Given the description of an element on the screen output the (x, y) to click on. 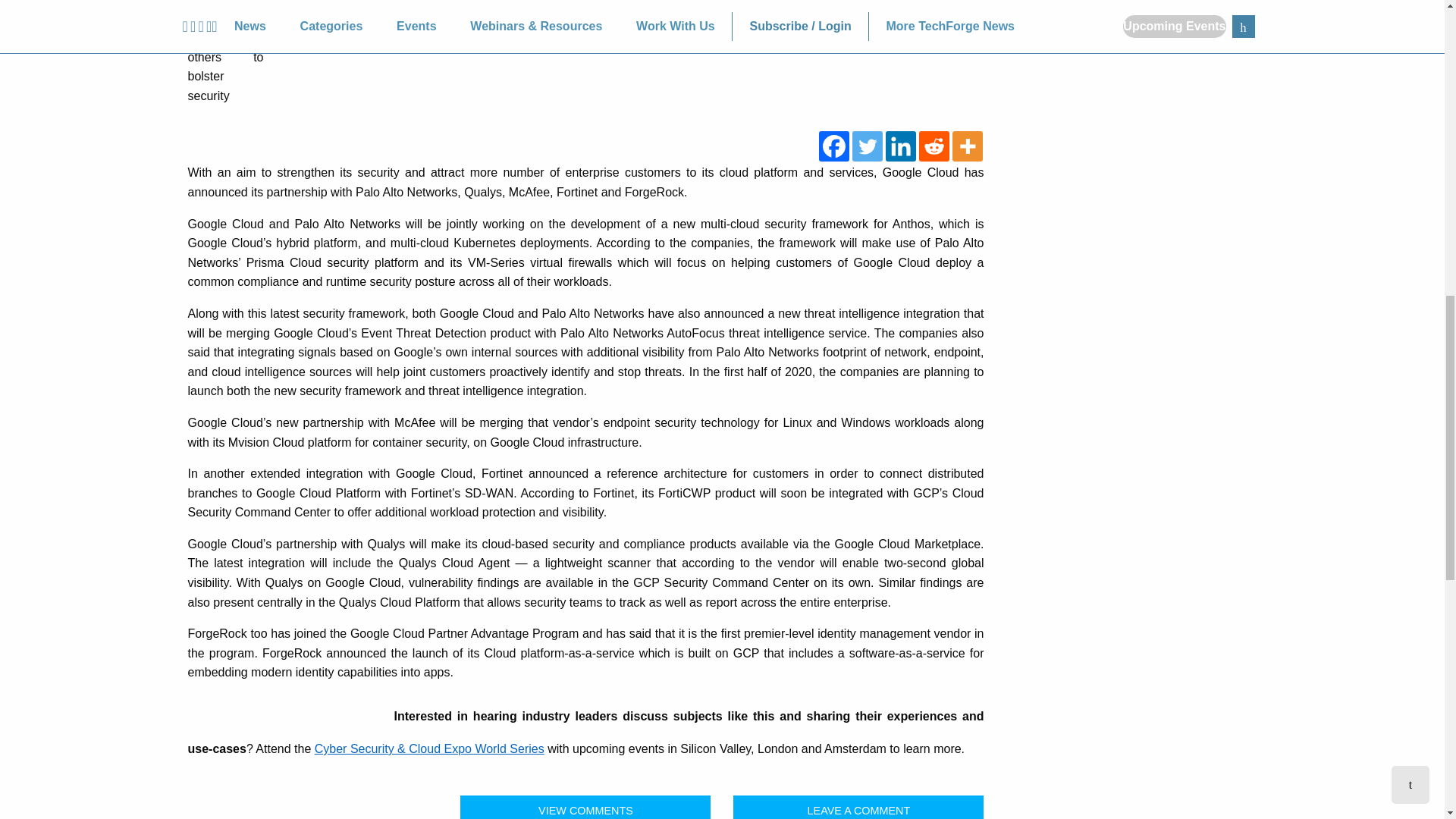
Facebook (833, 146)
Reddit (933, 146)
More (967, 146)
Twitter (866, 146)
Linkedin (900, 146)
